Given the description of an element on the screen output the (x, y) to click on. 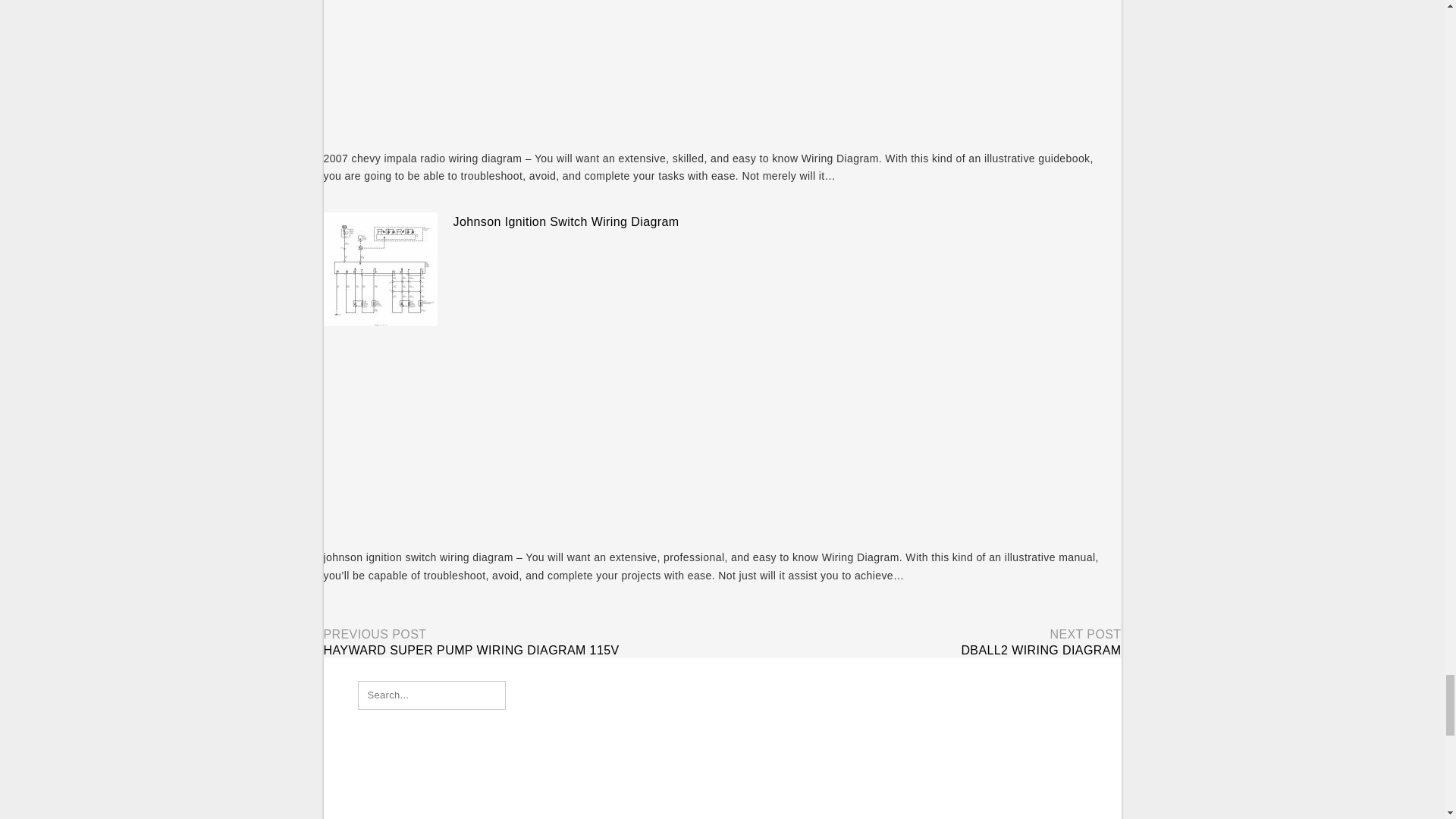
Johnson Ignition Switch Wiring Diagram (565, 221)
DBALL2 WIRING DIAGRAM (1040, 649)
HAYWARD SUPER PUMP WIRING DIAGRAM 115V (470, 649)
